Given the description of an element on the screen output the (x, y) to click on. 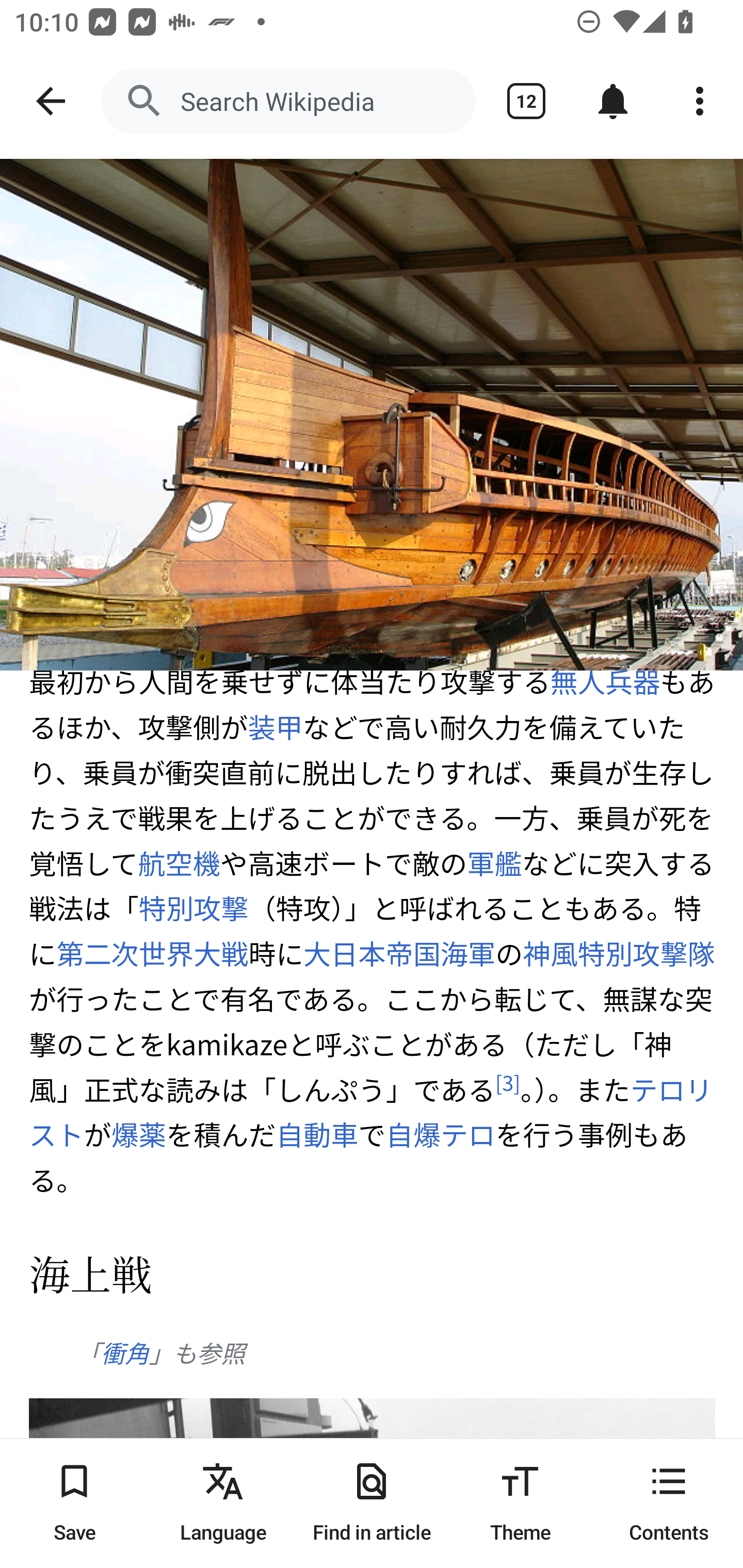
Show tabs 12 (525, 100)
Notifications (612, 100)
Navigate up (50, 101)
More options (699, 101)
Search Wikipedia (288, 100)
Image: 体当たり攻撃 (371, 414)
無人兵器 (605, 681)
装甲 (275, 726)
航空機 (179, 862)
軍艦 (494, 862)
特別攻撃 (192, 907)
第二次世界大戦 (151, 953)
大日本帝国海軍 (398, 953)
神風特別攻撃隊 (618, 953)
[] [ 3 ] (507, 1081)
テロリスト (370, 1112)
爆薬 (138, 1134)
自動車 (316, 1134)
自爆テロ (440, 1134)
衝角 (123, 1353)
Save (74, 1502)
Language (222, 1502)
Find in article (371, 1502)
Theme (519, 1502)
Contents (668, 1502)
